Given the description of an element on the screen output the (x, y) to click on. 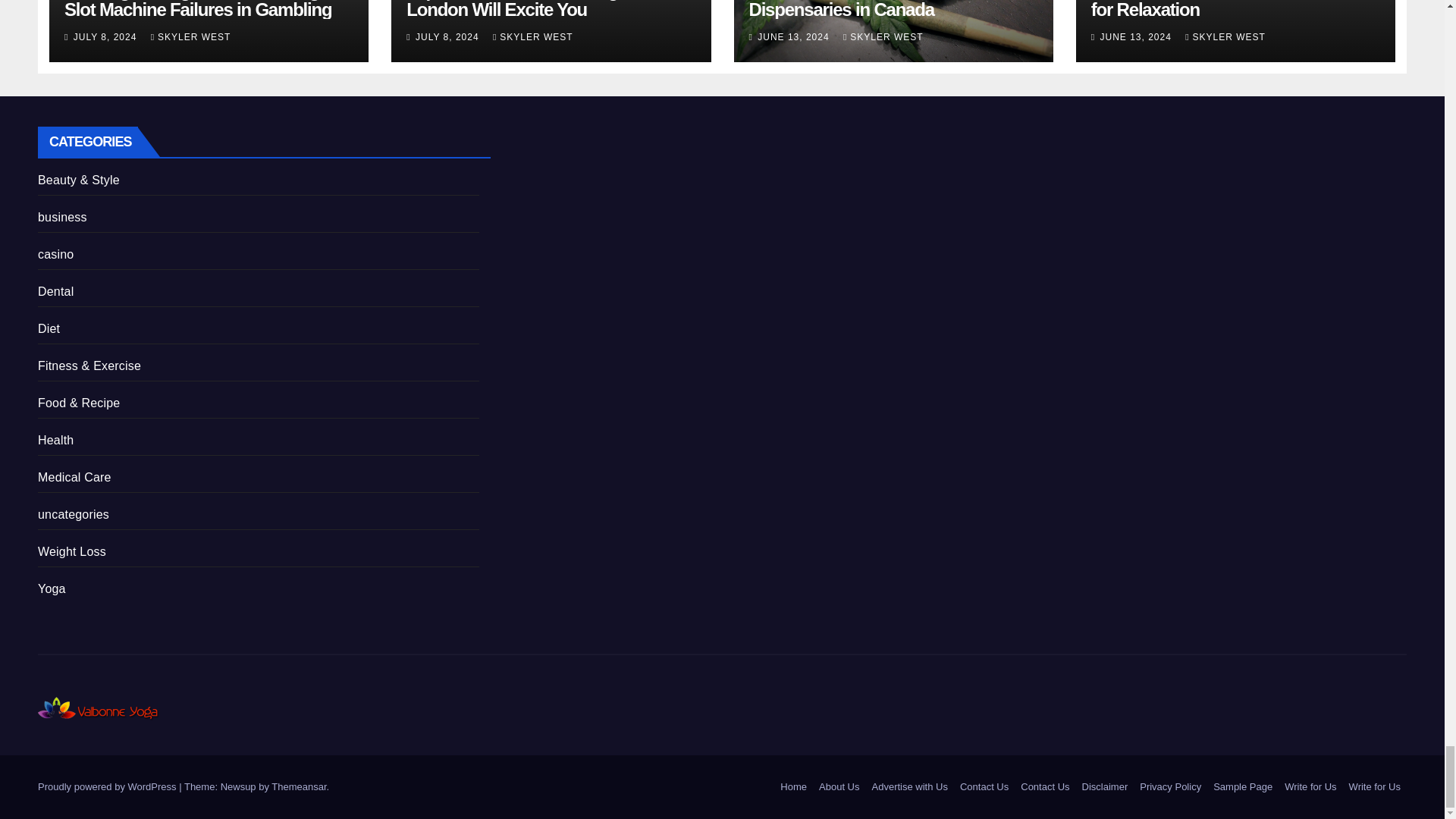
Home (793, 786)
